Given the description of an element on the screen output the (x, y) to click on. 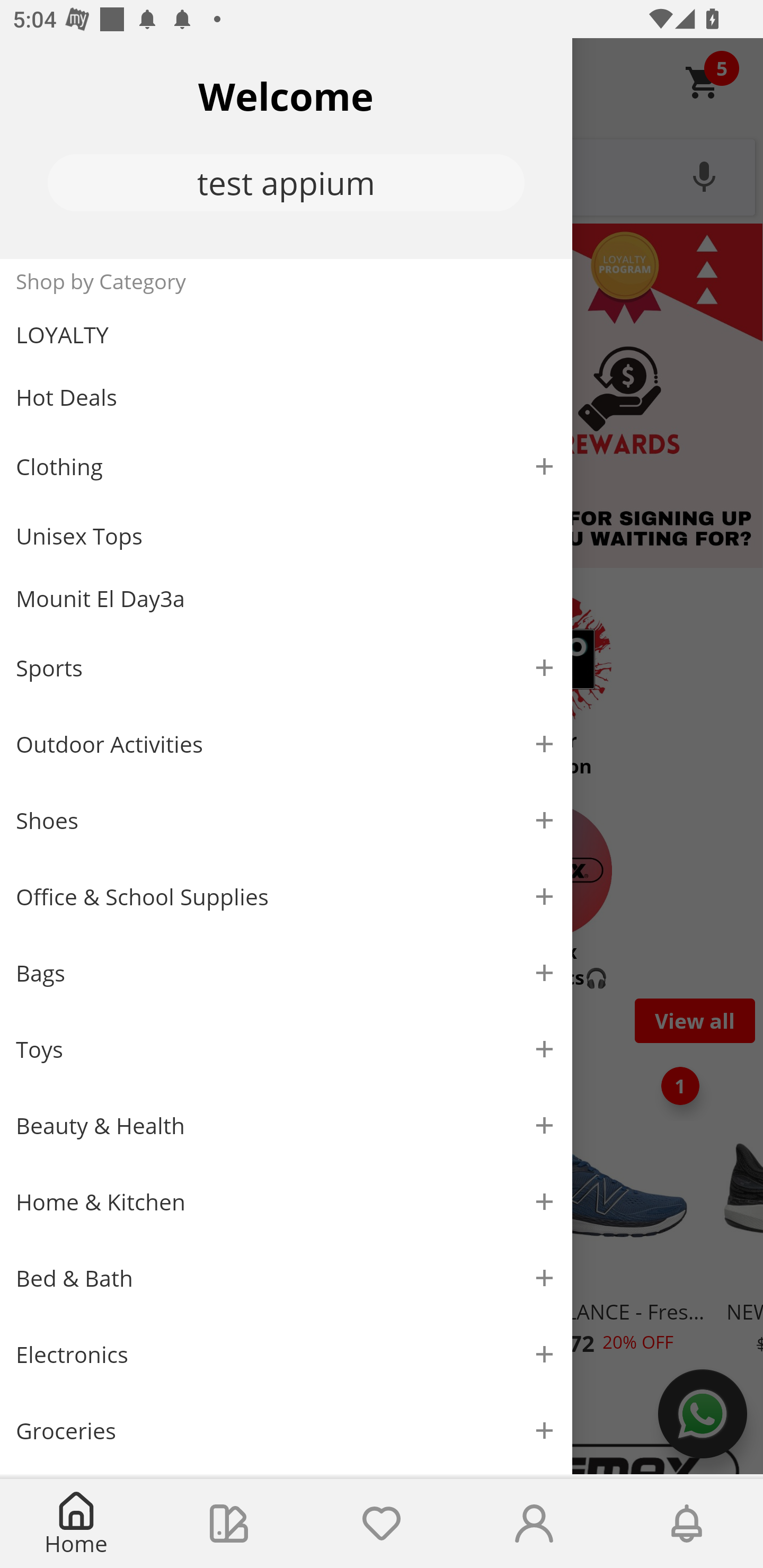
Welcome test appium (286, 147)
What are you looking for? (381, 175)
LOYALTY (286, 334)
Hot Deals (286, 396)
Clothing (286, 466)
Unisex Tops (286, 535)
Mounit El Day3a (286, 598)
Sports (286, 667)
Outdoor Activities (286, 743)
Shoes (286, 820)
Office & School Supplies (286, 896)
Bags (286, 972)
Toys (286, 1049)
Beauty & Health (286, 1125)
Home & Kitchen (286, 1201)
Bed & Bath (286, 1278)
Electronics (286, 1354)
Groceries (286, 1430)
Collections (228, 1523)
Wishlist (381, 1523)
Account (533, 1523)
Notifications (686, 1523)
